Given the description of an element on the screen output the (x, y) to click on. 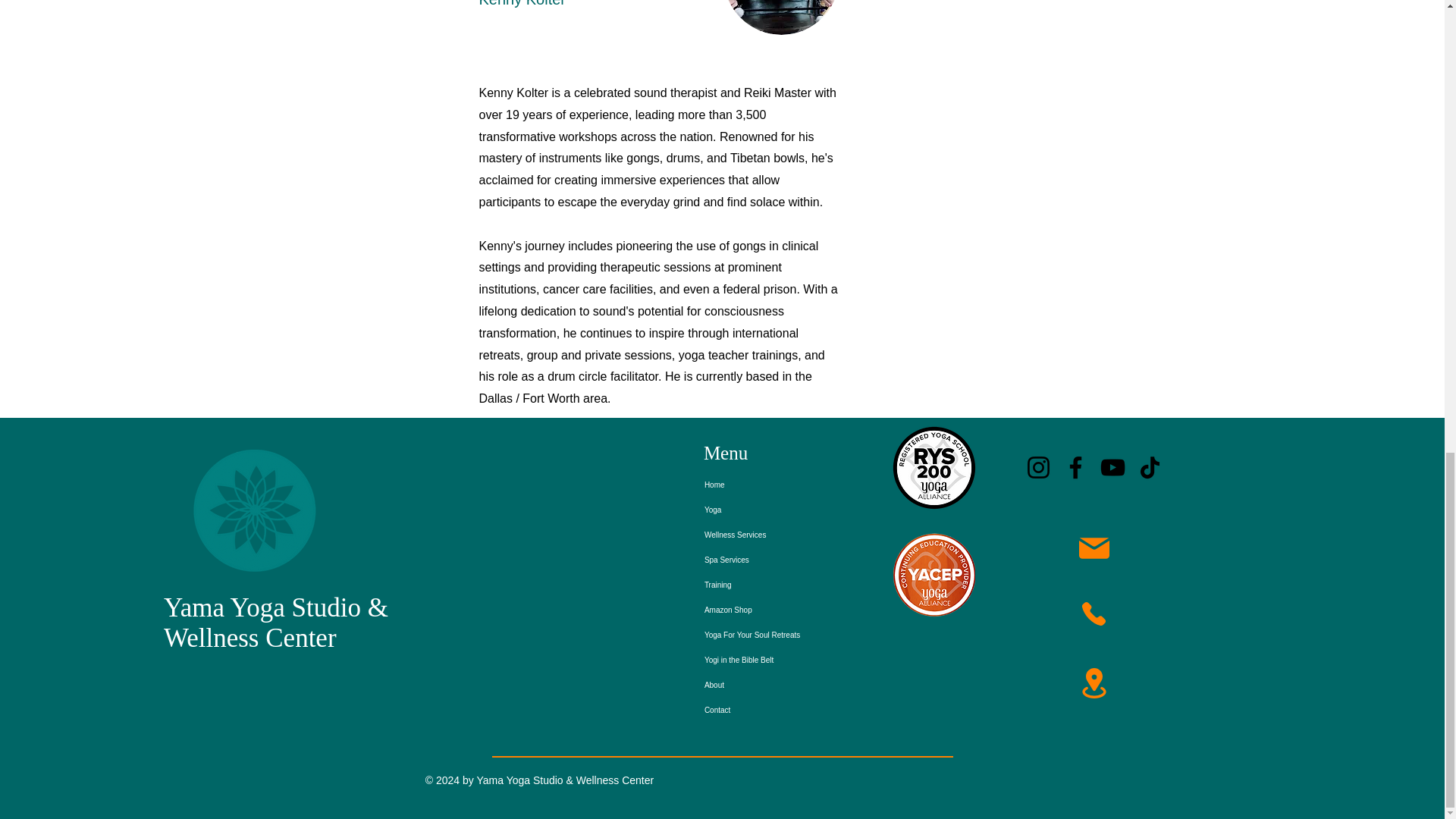
YACEP Logo.png (934, 575)
Kenny Kolter Pic.jpeg (781, 17)
Wellness  (213, 637)
